Given the description of an element on the screen output the (x, y) to click on. 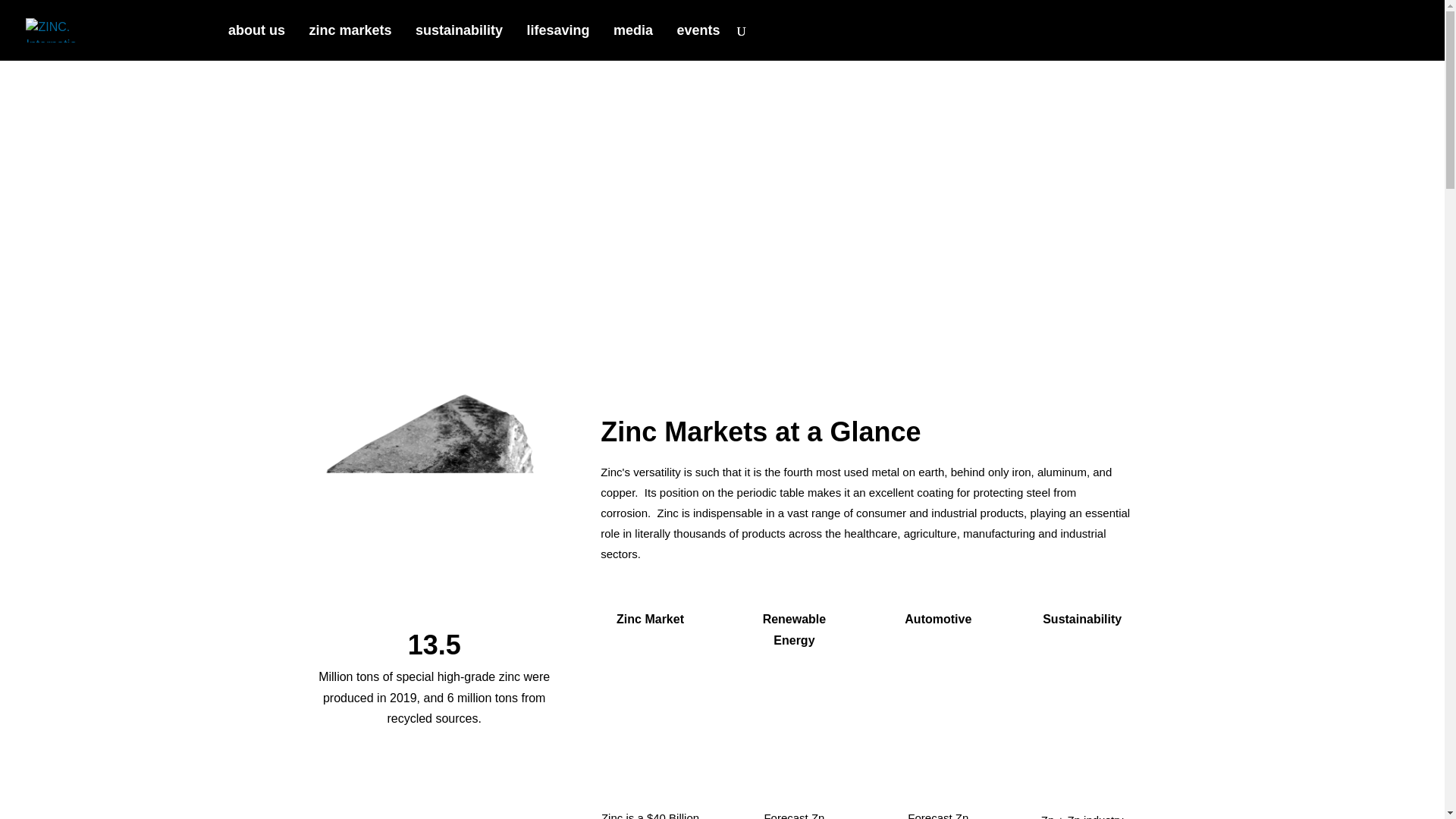
Follow on Instagram (55, 306)
events (698, 42)
about us (256, 42)
Follow on LinkedIn (91, 306)
sustainability (458, 42)
zinc markets (349, 42)
media (632, 42)
lifesaving (557, 42)
zinc-ore (433, 498)
